Given the description of an element on the screen output the (x, y) to click on. 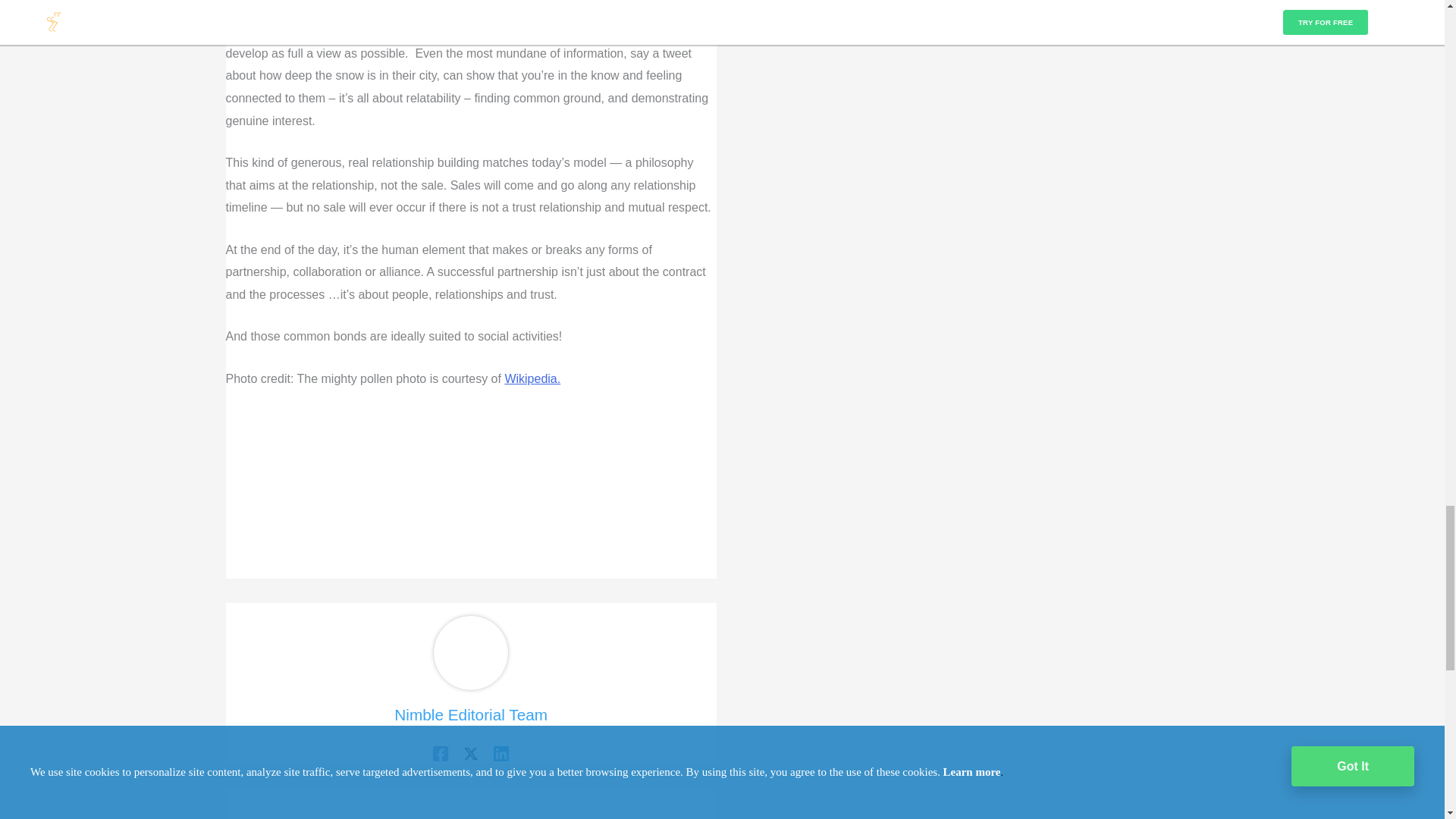
Wikipedia. (531, 378)
Nimble Editorial Team (471, 714)
